Given the description of an element on the screen output the (x, y) to click on. 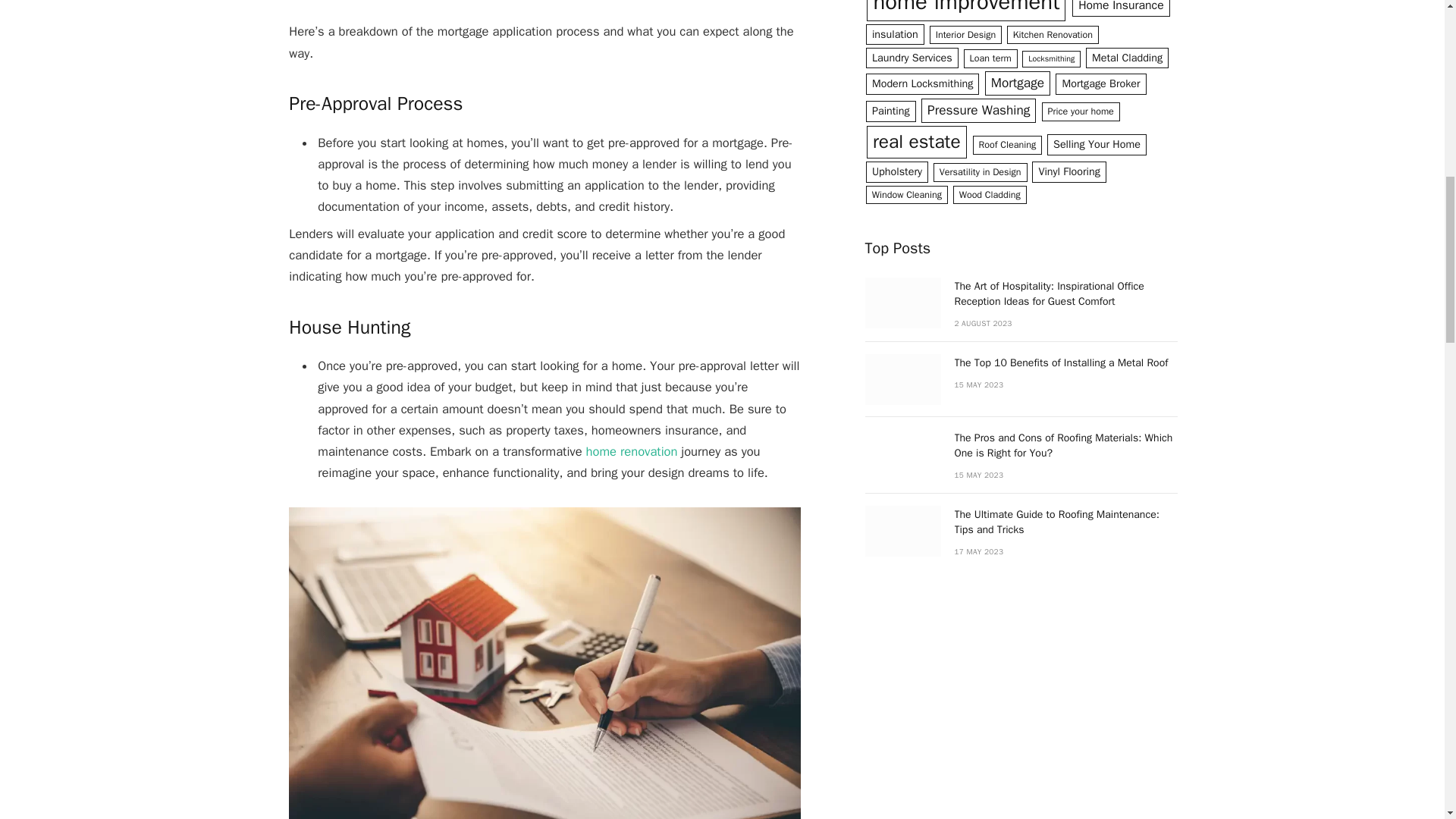
The Top 10 Benefits of Installing a Metal Roof (902, 378)
The Ultimate Guide to Roofing Maintenance: Tips and Tricks (902, 531)
